Given the description of an element on the screen output the (x, y) to click on. 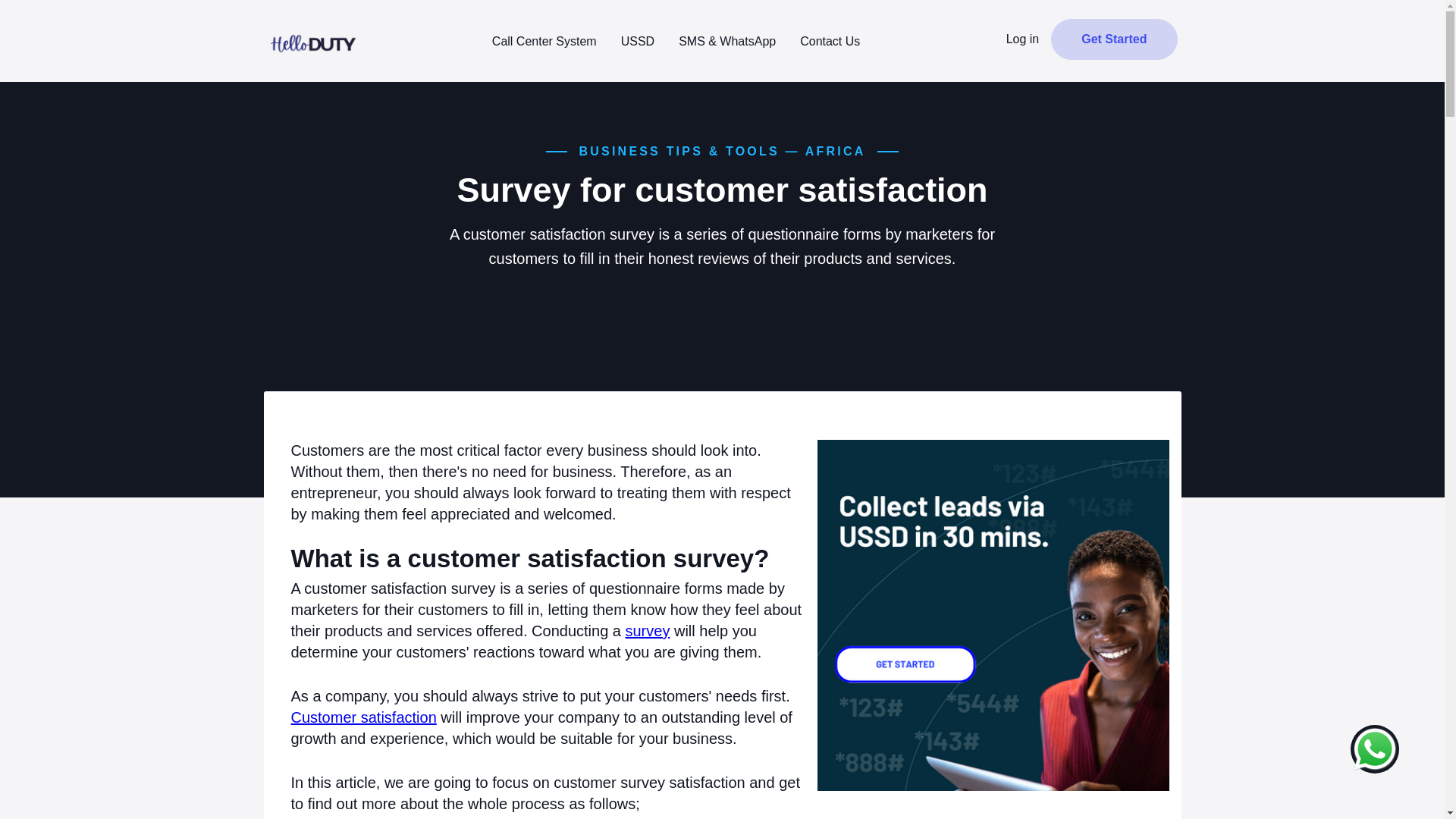
Customer satisfaction (363, 717)
Contact Us (829, 41)
Get Started (1113, 38)
survey (646, 630)
Call Center System (544, 41)
